Given the description of an element on the screen output the (x, y) to click on. 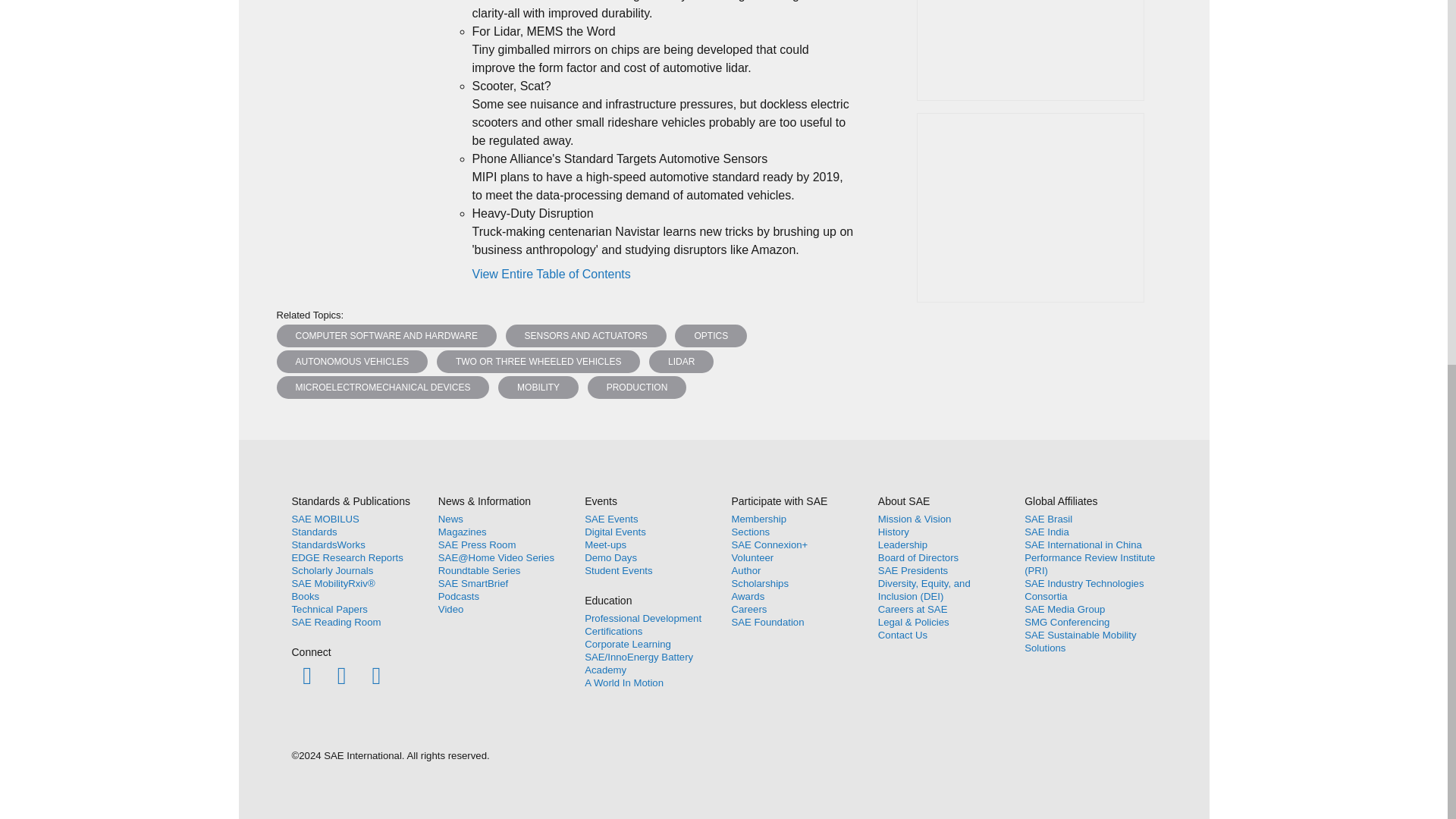
Magazines on Autonomous vehicles (352, 361)
Magazines on Two or three wheeled vehicles (538, 361)
Magazines on Mobility (537, 386)
LinkedIn (376, 675)
Magazines on Optics (710, 335)
Magazines on Microelectromechanical devices (382, 386)
Magazines on Production (637, 386)
Facebook (306, 675)
Magazines on Lidar (681, 361)
Magazines on Computer software and hardware (386, 335)
